Given the description of an element on the screen output the (x, y) to click on. 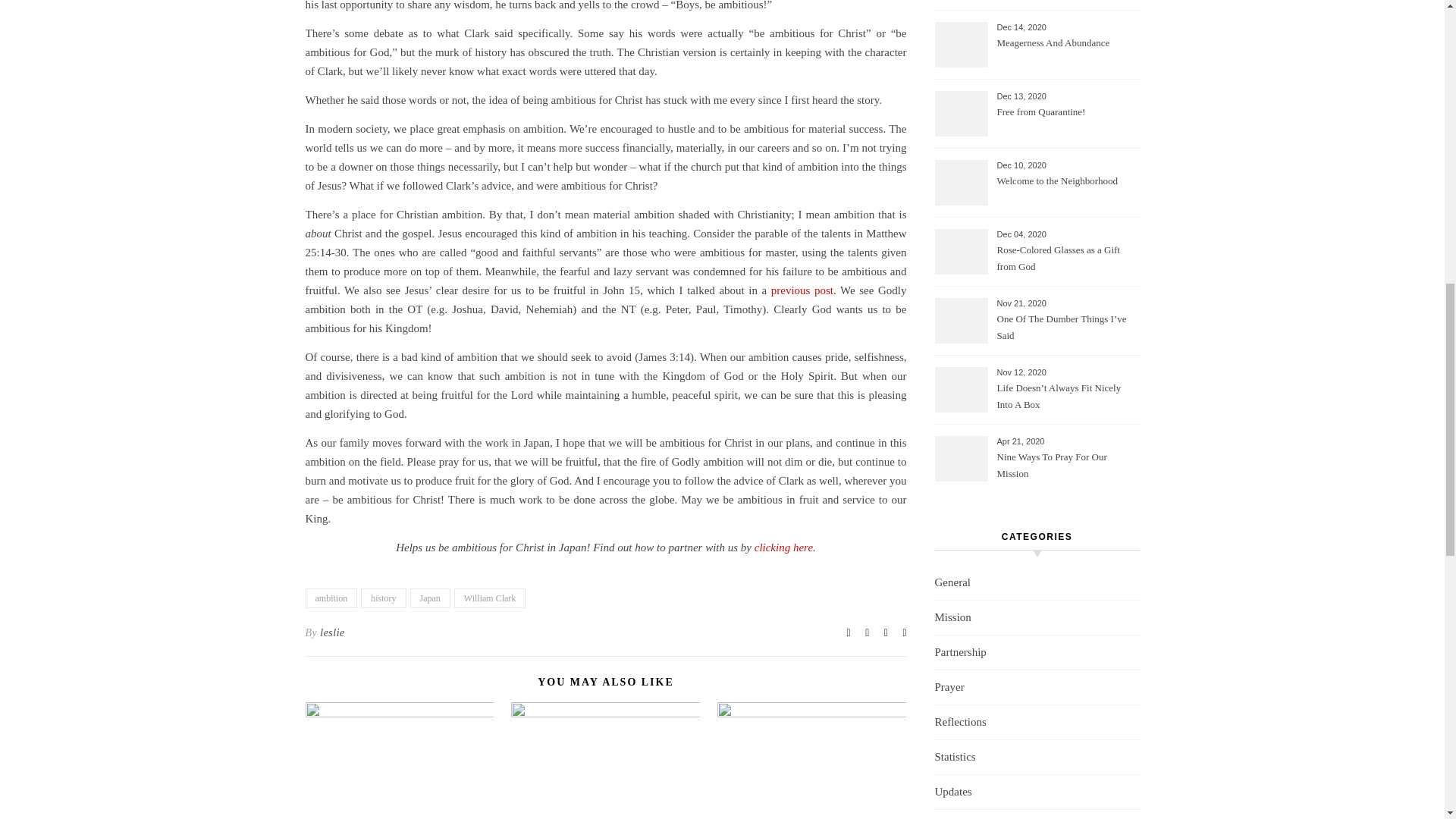
Posts by leslie (332, 632)
William Clark (489, 598)
leslie (332, 632)
history (383, 598)
previous post (801, 290)
Japan (429, 598)
clicking here (783, 547)
ambition (330, 598)
